Given the description of an element on the screen output the (x, y) to click on. 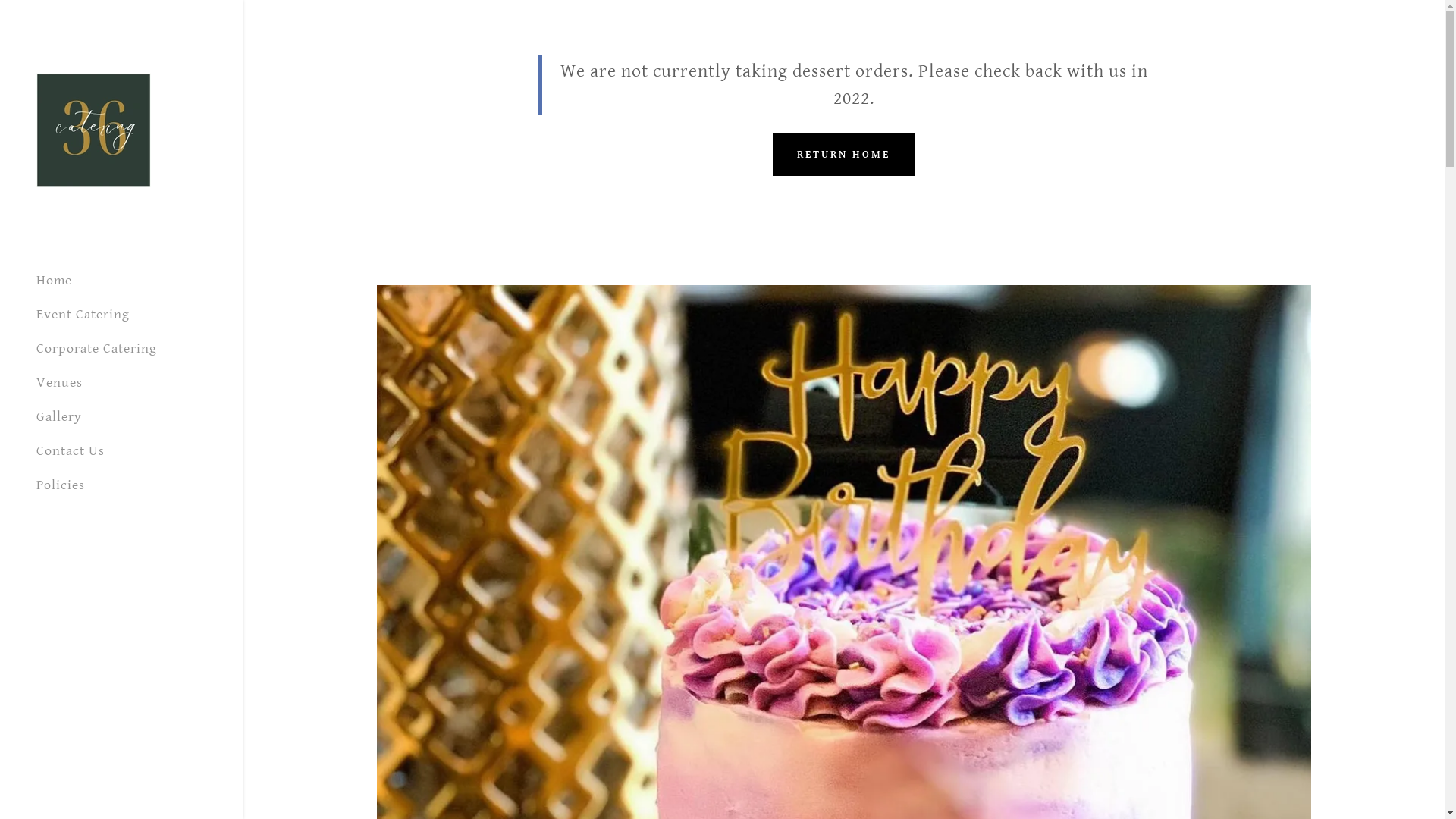
Event Catering Element type: text (82, 314)
Policies Element type: text (60, 484)
Corporate Catering Element type: text (96, 348)
RETURN HOME Element type: text (843, 154)
36Sweets Desserts & Catering Element type: hover (93, 129)
Gallery Element type: text (58, 416)
Contact Us Element type: text (70, 450)
Home Element type: text (54, 280)
Venues Element type: text (59, 382)
